Given the description of an element on the screen output the (x, y) to click on. 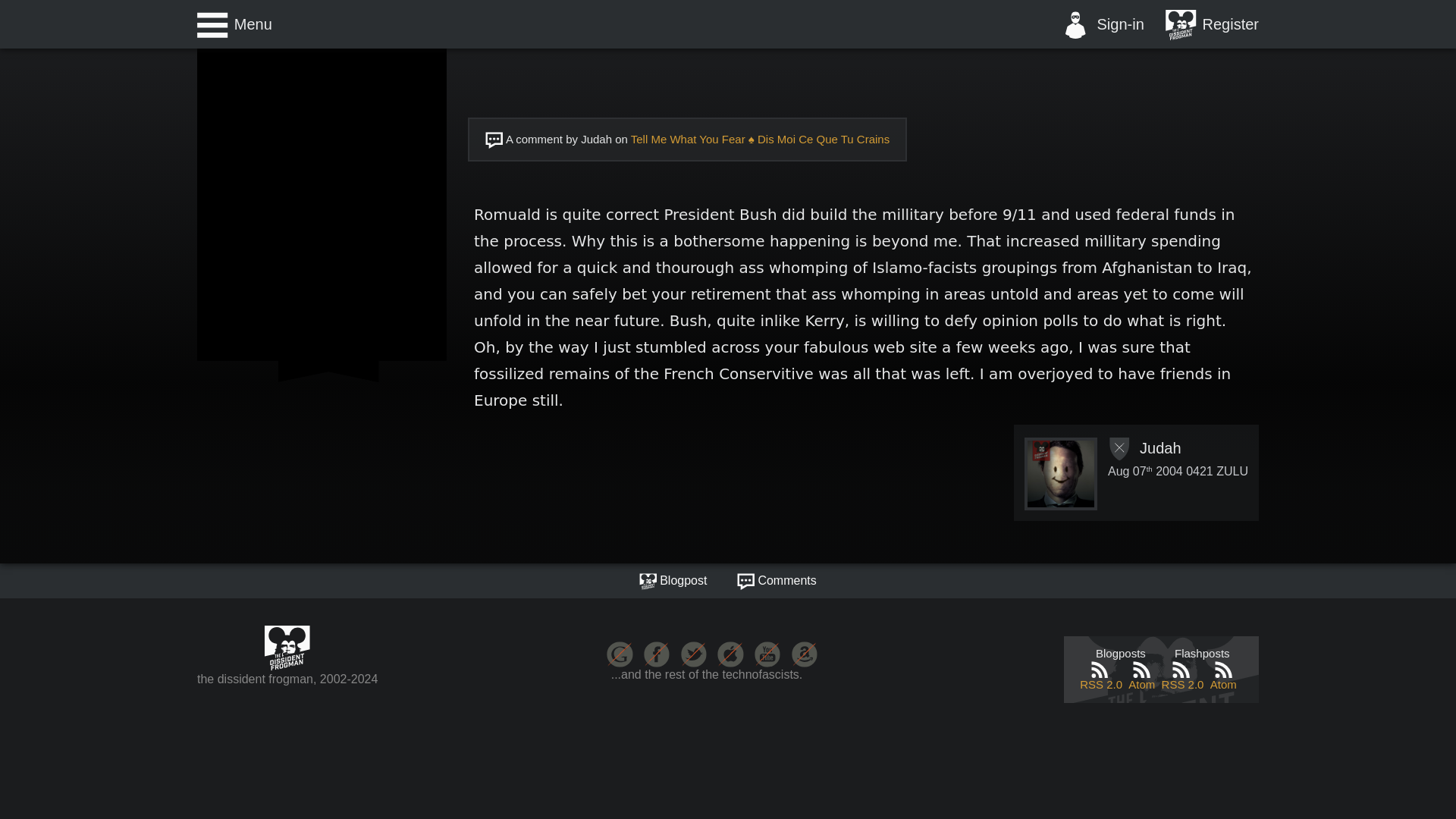
Saturday, August 07th 2004 0421 ZULU (1177, 471)
Register (1212, 24)
the dissident frogman, 2002-2024 (286, 656)
RSS 2.0 (1182, 676)
Blogpost (673, 580)
The dissident frogman Atom blogposts feed (1141, 676)
Sign-in (1101, 24)
Go to the article content (673, 580)
Menu (234, 24)
Go to the comments thread (776, 580)
Comments (776, 580)
Atom (1141, 676)
The dissident frogman RSS 2.0 blogposts feed (1101, 676)
RSS 2.0 (1101, 676)
Atom (1223, 676)
